Given the description of an element on the screen output the (x, y) to click on. 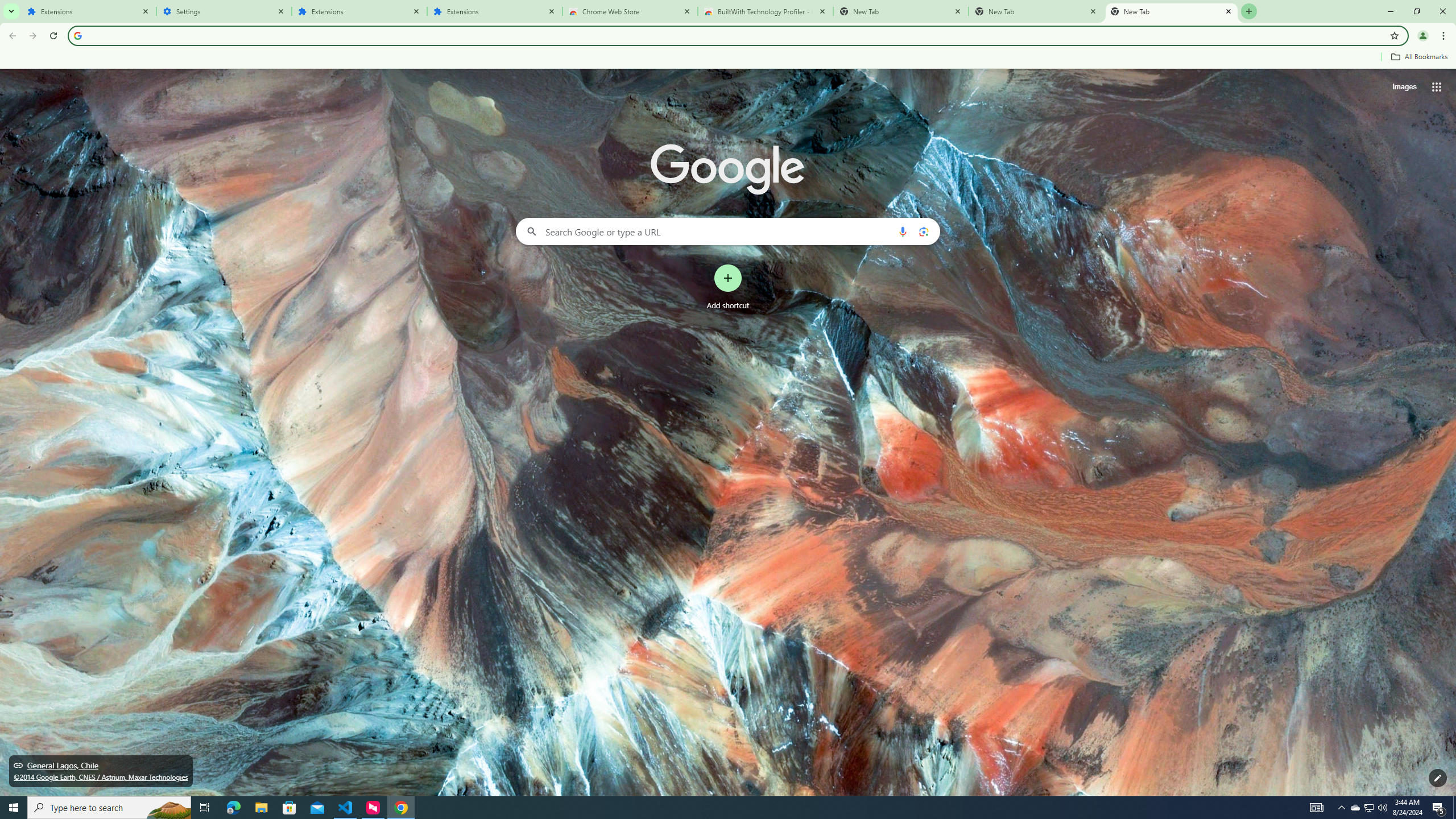
Search for Images  (1403, 87)
New Tab (1036, 11)
Search by voice (902, 230)
